Given the description of an element on the screen output the (x, y) to click on. 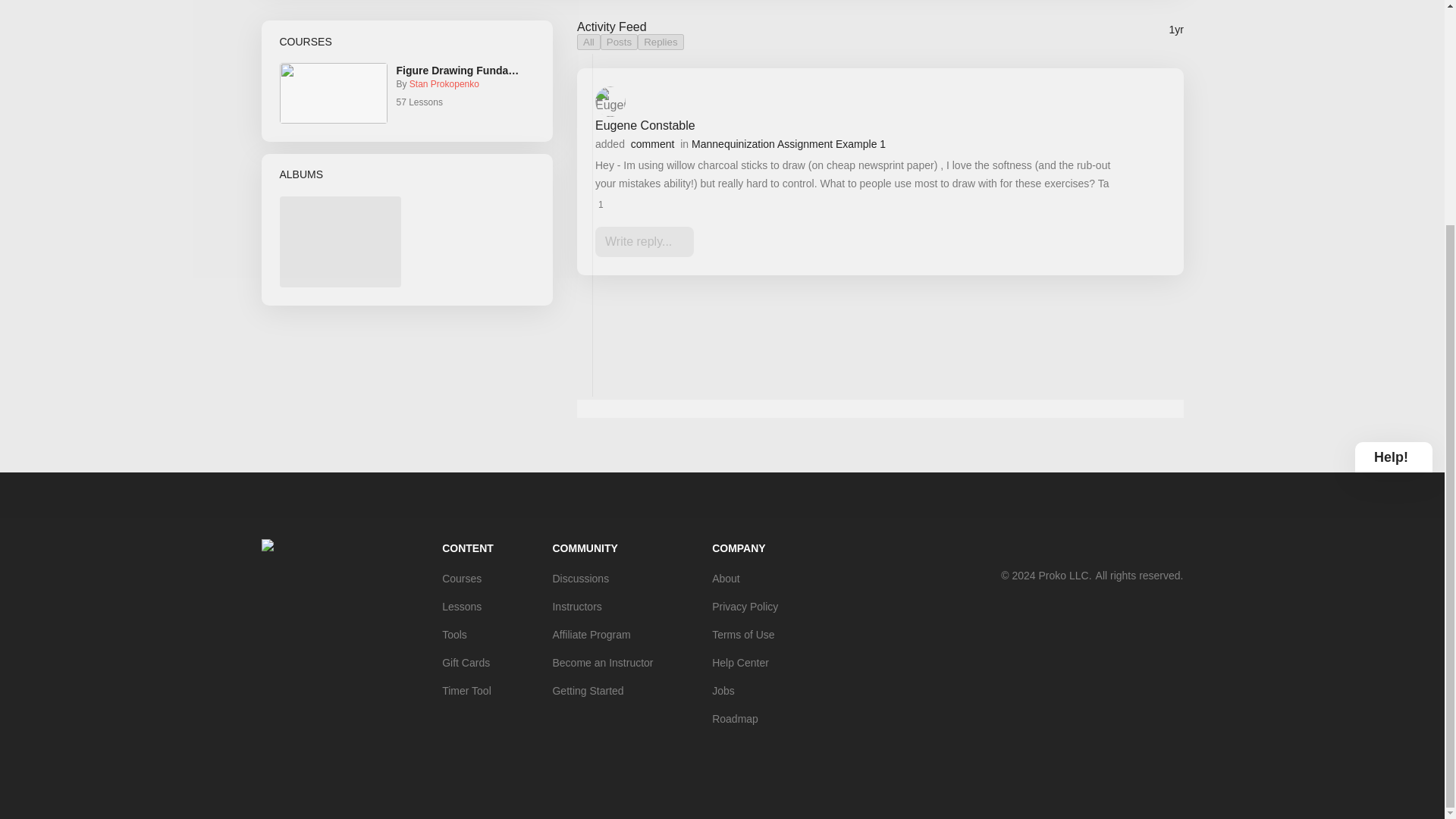
Figure Drawing Fundamentals (461, 70)
Timer Tool (467, 690)
Instructors (601, 606)
Facebook (1052, 547)
Eugene Constable (644, 126)
Mannequinization Assignment Example 1 (861, 144)
Stan Prokopenko (444, 83)
Gift Cards (467, 662)
Spotify (1112, 547)
Replies (659, 41)
